Given the description of an element on the screen output the (x, y) to click on. 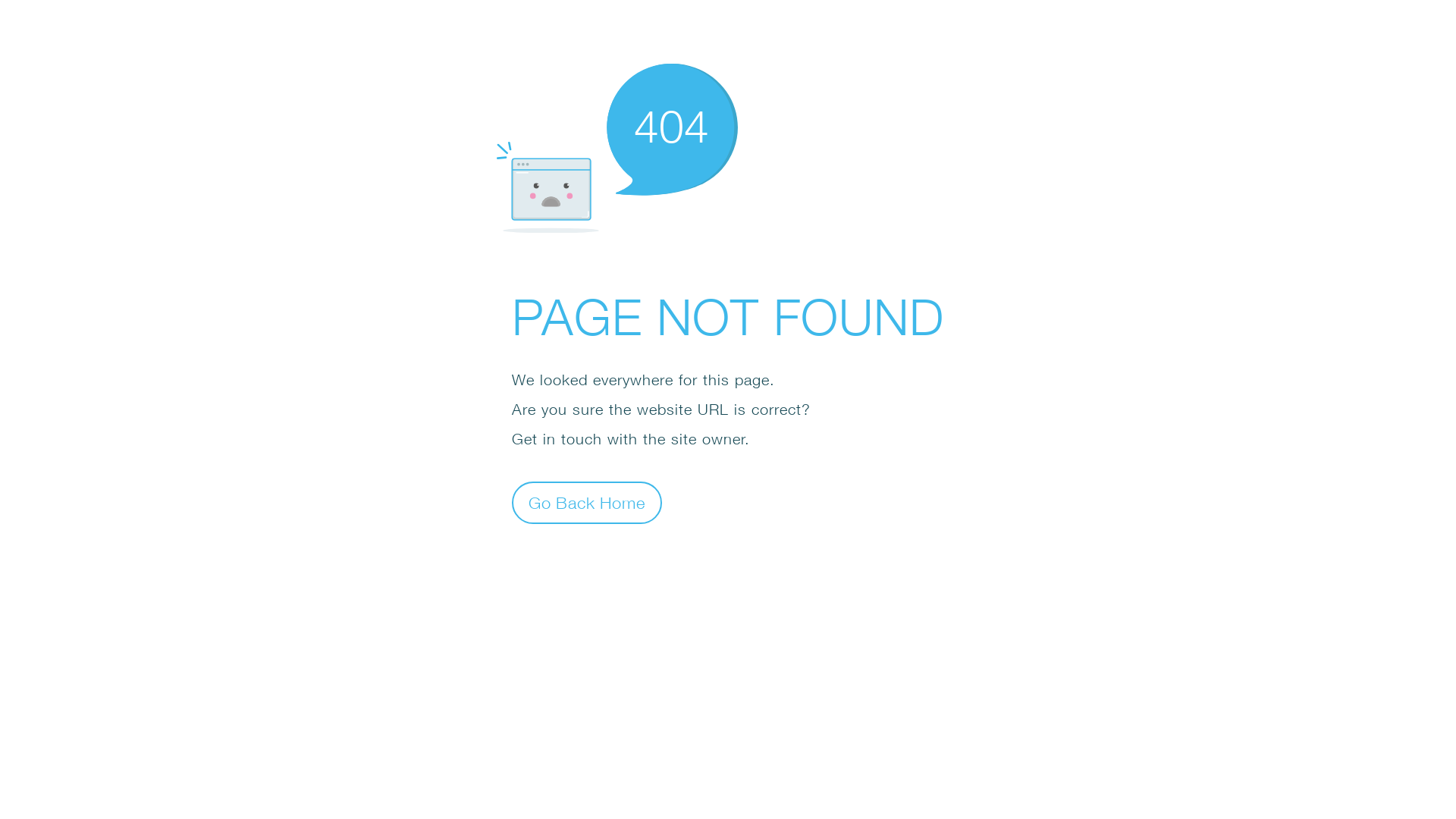
Go Back Home Element type: text (586, 502)
